Given the description of an element on the screen output the (x, y) to click on. 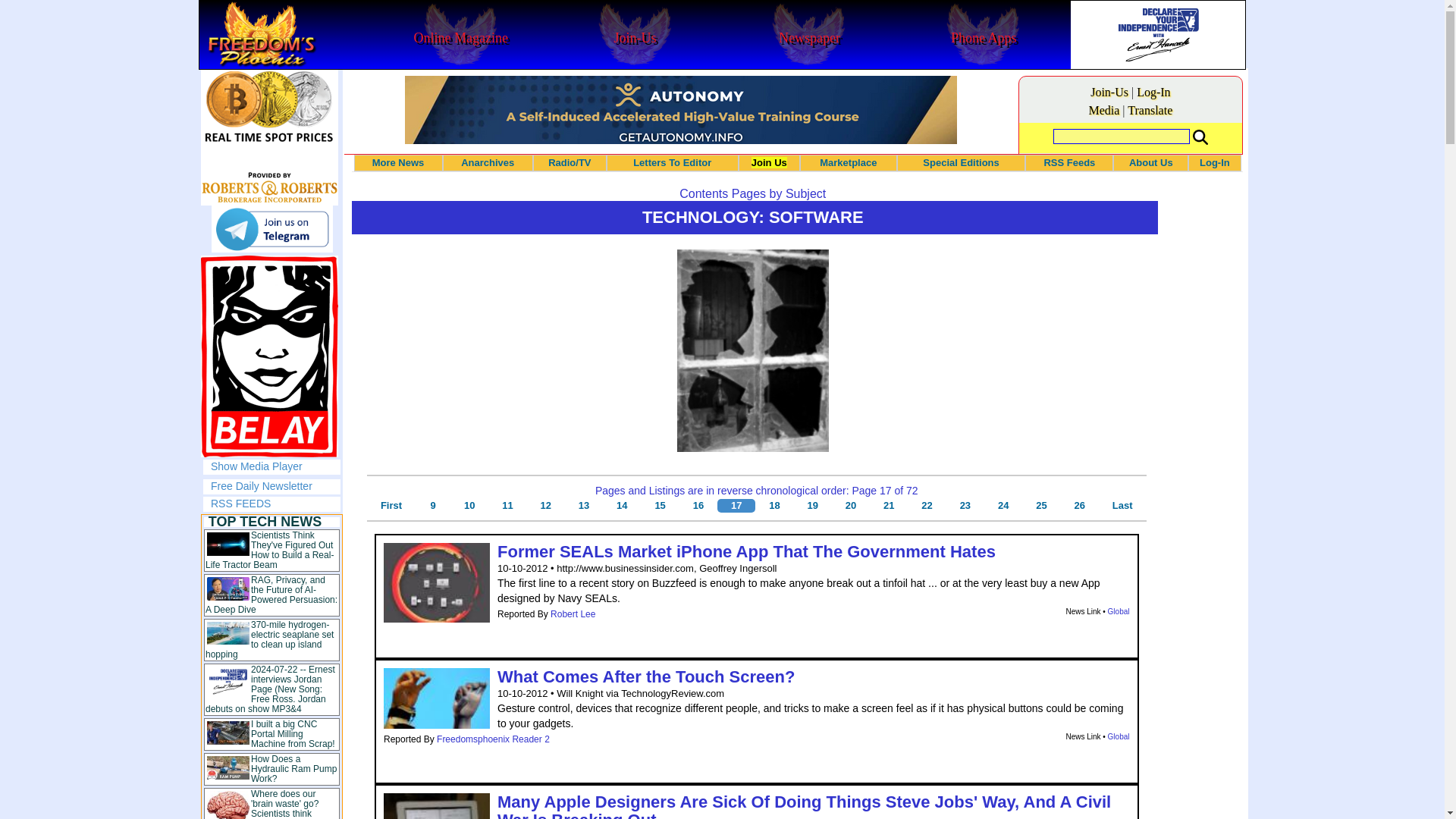
Free Daily Newsletter (262, 485)
RSS FEEDS (240, 503)
I built a big CNC Portal Milling Machine from Scrap! (292, 734)
Declare Your Independence on Telegram (271, 229)
Show Media Player (256, 466)
TOP TECH NEWS (264, 521)
